Given the description of an element on the screen output the (x, y) to click on. 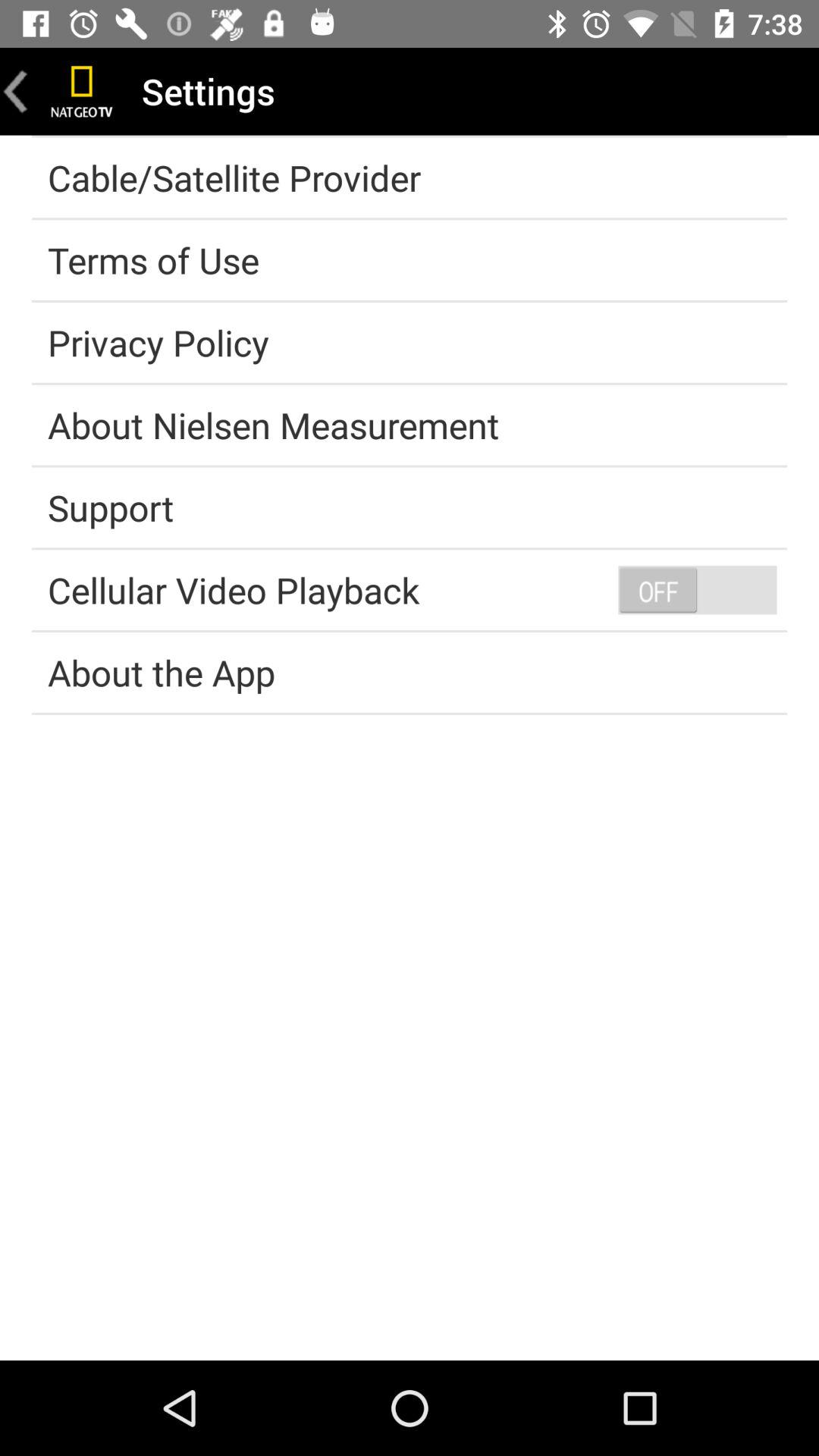
switch the cellular video playback option (696, 589)
